Given the description of an element on the screen output the (x, y) to click on. 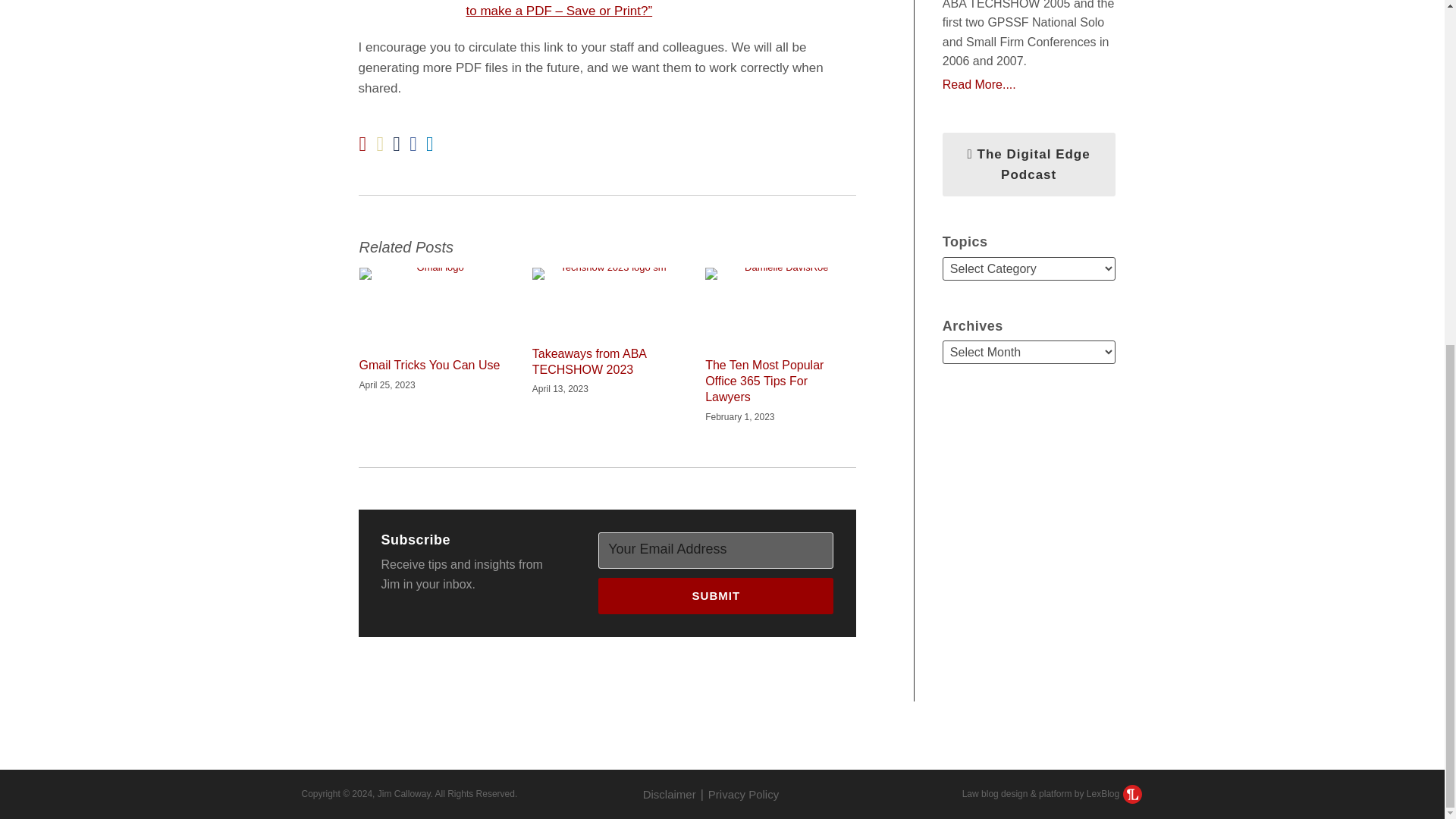
The Ten Most Popular Office 365 Tips For Lawyers (780, 380)
Gmail Tricks You Can Use (429, 365)
Submit (715, 596)
Disclaimer (669, 794)
Read More.... (1028, 85)
Submit (715, 596)
LexBlog Logo (1131, 793)
Privacy Policy (742, 794)
Takeaways from ABA TECHSHOW 2023 (607, 362)
The Digital Edge Podcast (1028, 164)
